Given the description of an element on the screen output the (x, y) to click on. 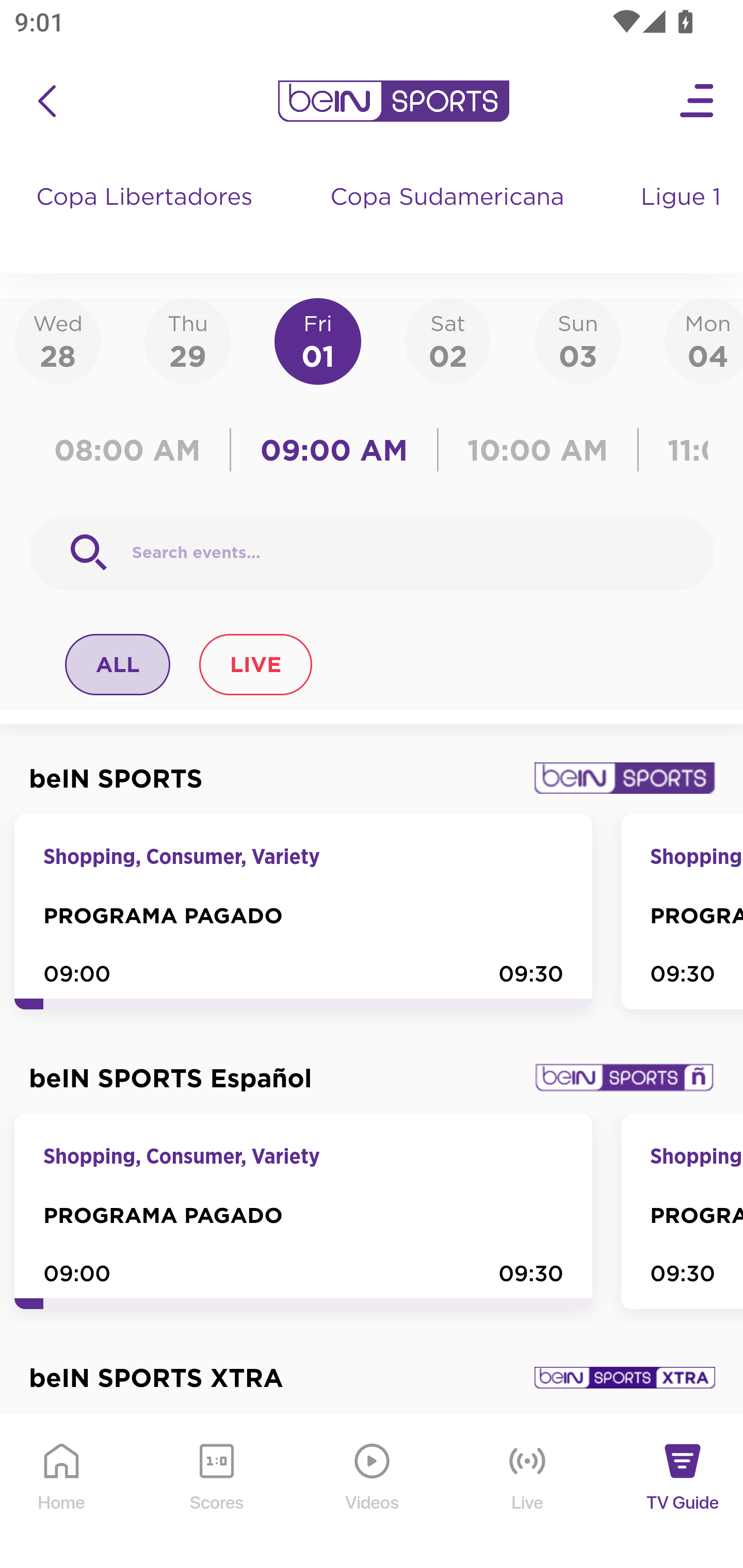
en-us?platform=mobile_android bein logo (392, 101)
icon back (46, 101)
Open Menu Icon (697, 101)
Copa Libertadores (146, 216)
Copa Sudamericana (448, 216)
Ligue 1 (682, 216)
Wed28 (58, 340)
Thu29 (187, 340)
Fri01 (318, 340)
Sat02 (447, 340)
Sun03 (578, 340)
Mon04 (703, 340)
08:00 AM (134, 449)
09:00 AM (334, 449)
10:00 AM (537, 449)
ALL (118, 663)
LIVE (255, 663)
Home Home Icon Home (61, 1491)
Scores Scores Icon Scores (216, 1491)
Videos Videos Icon Videos (372, 1491)
TV Guide TV Guide Icon TV Guide (682, 1491)
